Given the description of an element on the screen output the (x, y) to click on. 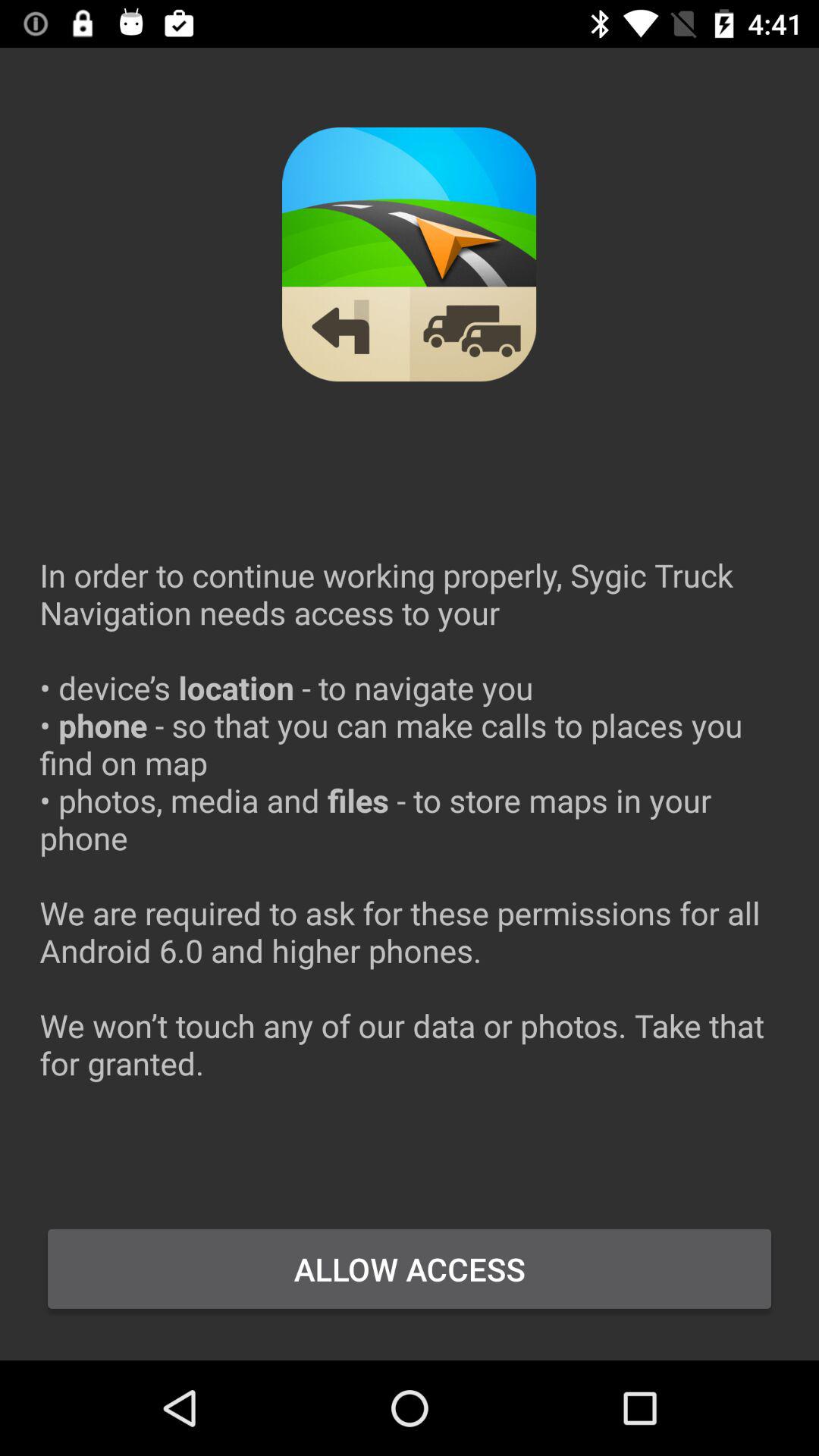
choose allow access item (409, 1268)
